Given the description of an element on the screen output the (x, y) to click on. 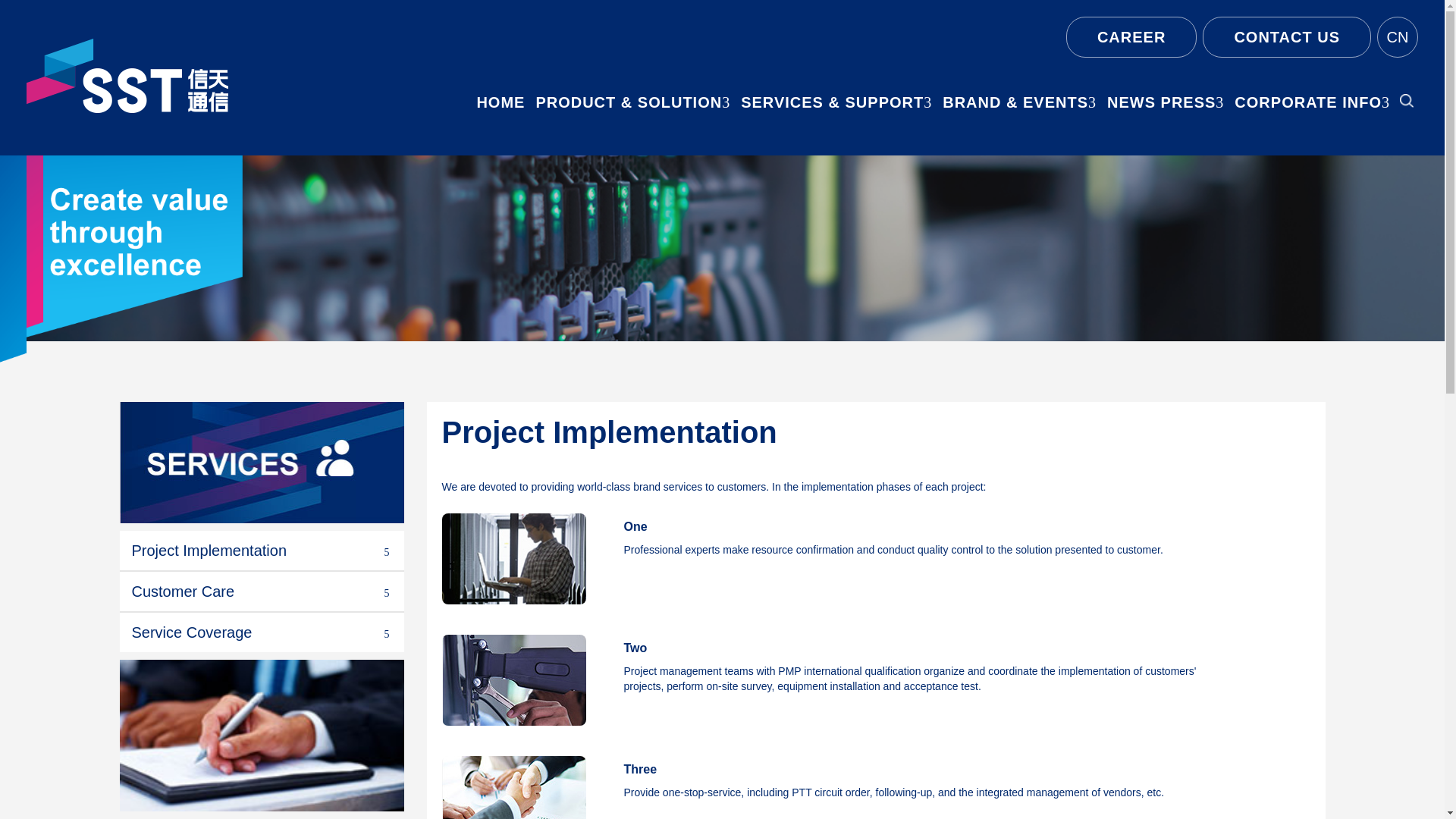
CN (1397, 36)
NEWS PRESS (1165, 102)
CAREER (1130, 36)
CORPORATE INFO (1311, 102)
CONTACT US (1286, 36)
HOME (499, 102)
